Given the description of an element on the screen output the (x, y) to click on. 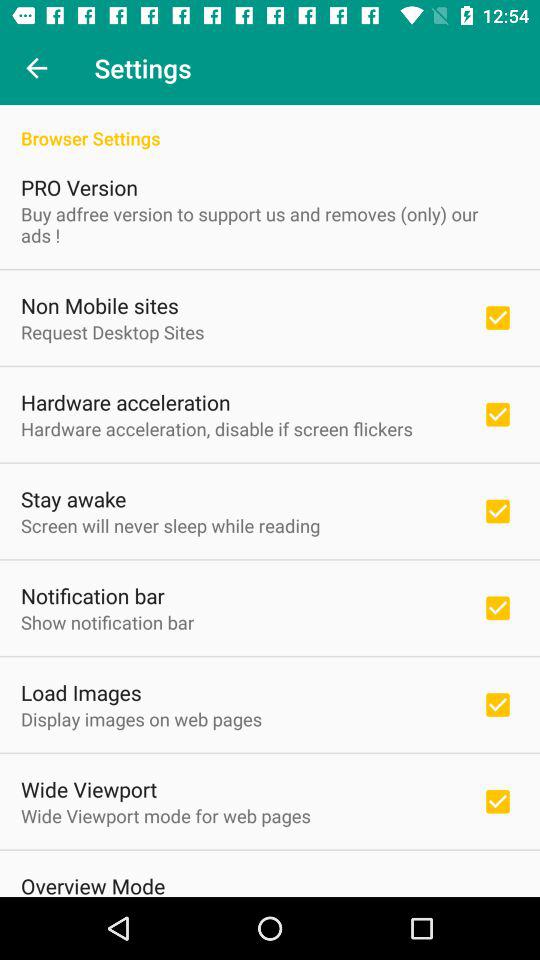
turn off non mobile sites icon (99, 305)
